Given the description of an element on the screen output the (x, y) to click on. 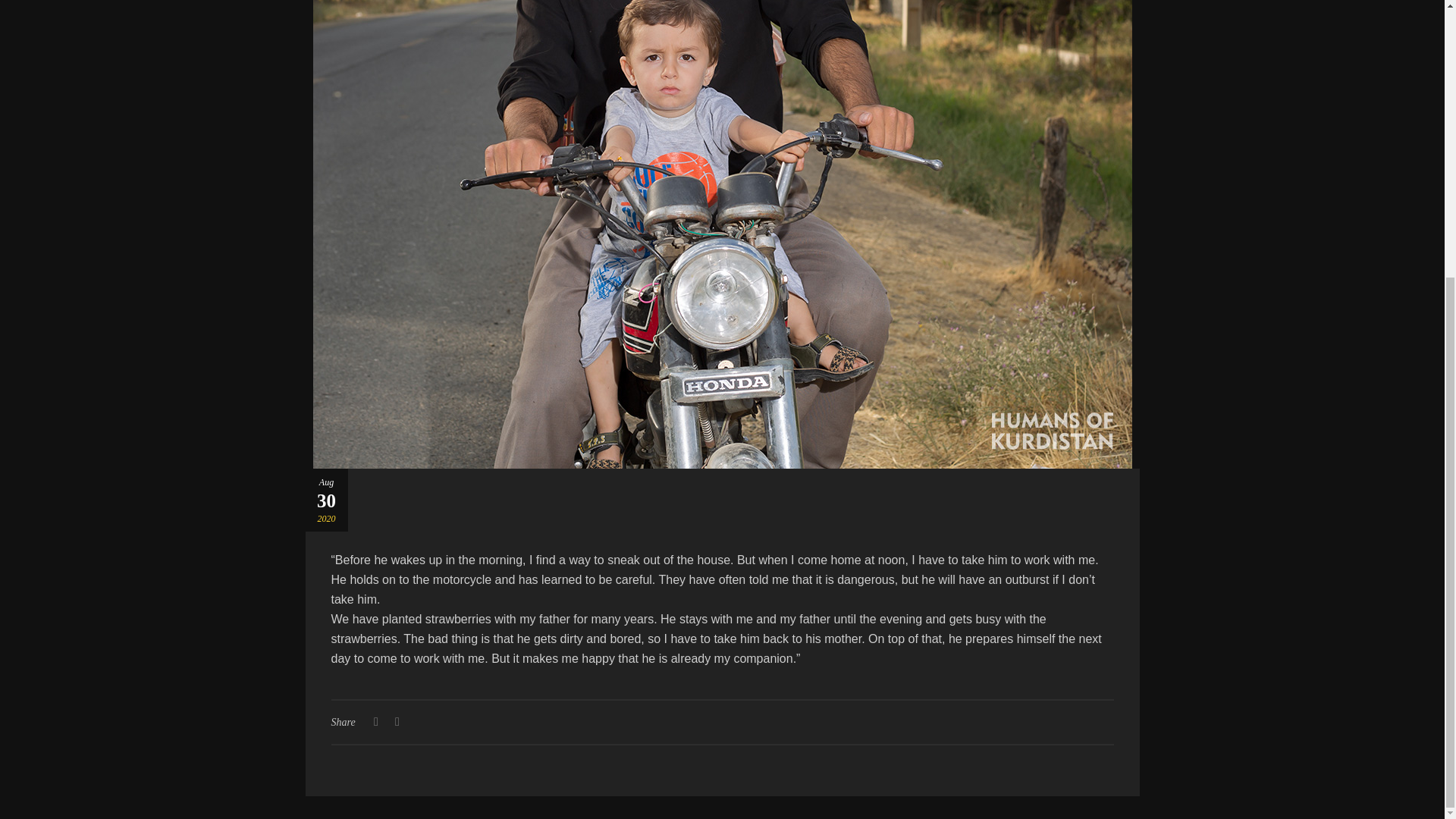
Vim Foundation (1382, 388)
Instagram (769, 319)
Facebook (674, 319)
X (721, 319)
